Given the description of an element on the screen output the (x, y) to click on. 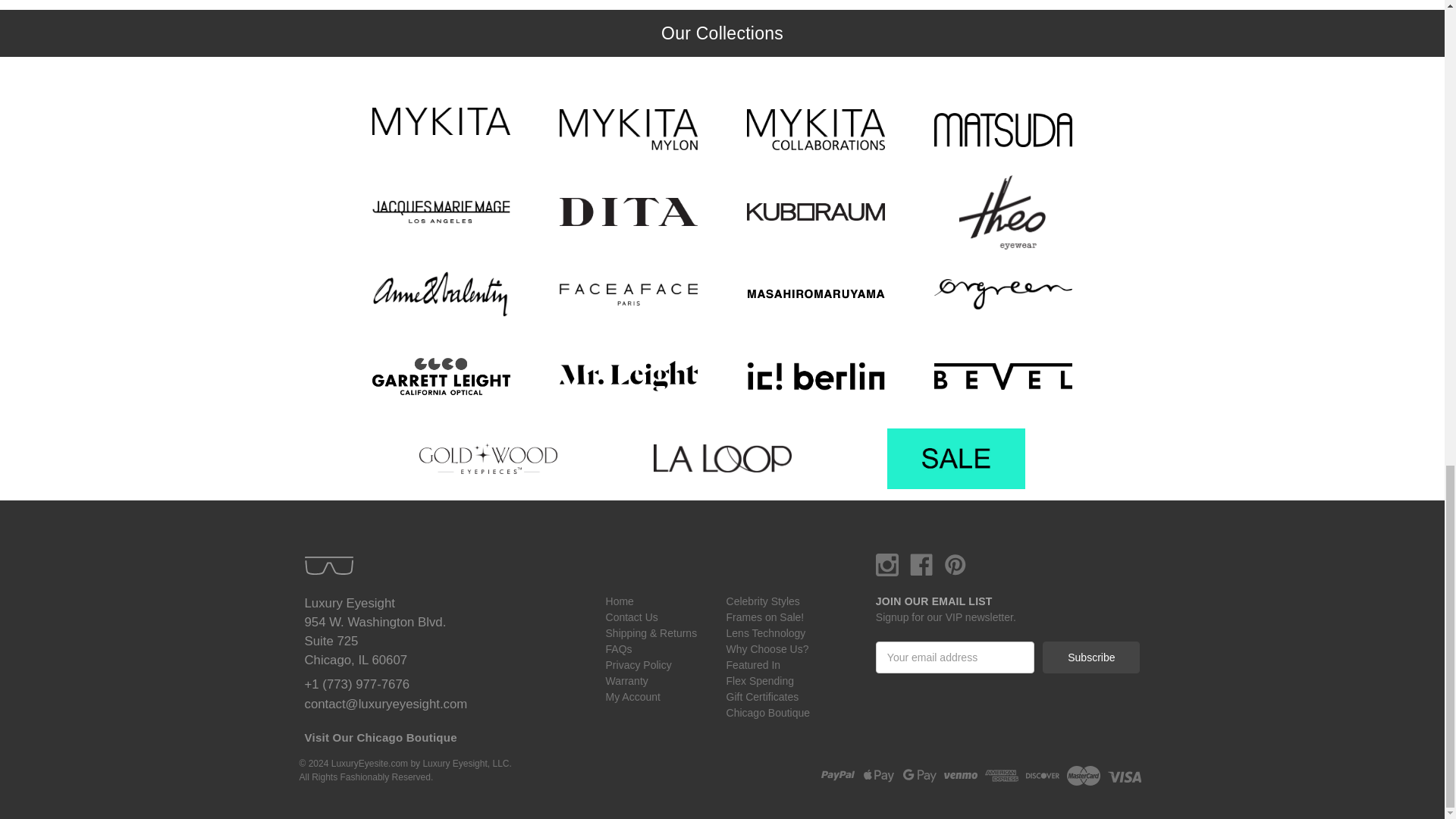
Subscribe (1091, 657)
